Given the description of an element on the screen output the (x, y) to click on. 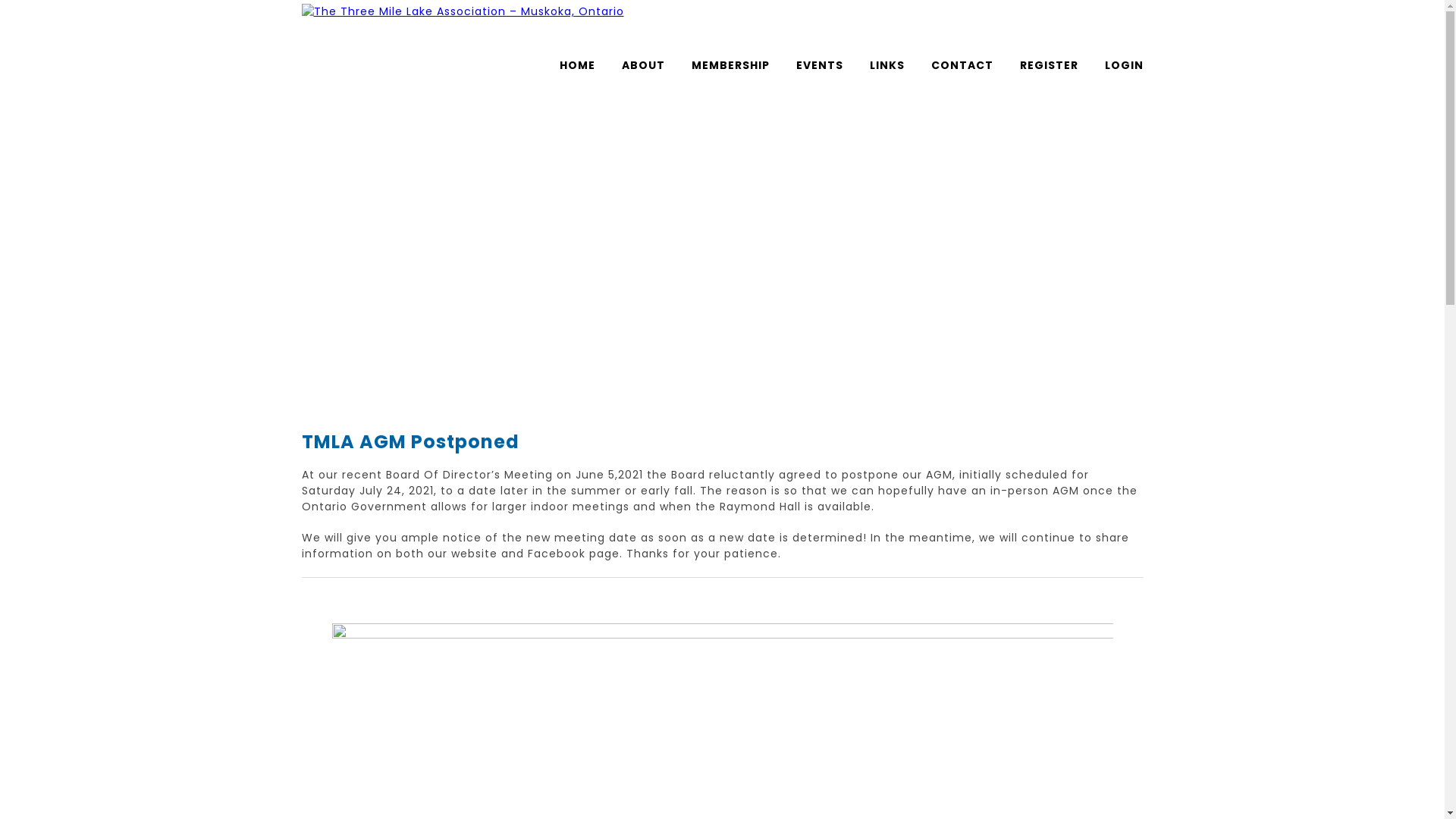
REGISTER Element type: text (1048, 64)
EVENTS Element type: text (819, 64)
LOGIN Element type: text (1123, 64)
MEMBERSHIP Element type: text (730, 64)
ABOUT Element type: text (643, 64)
CONTACT Element type: text (962, 64)
LINKS Element type: text (886, 64)
HOME Element type: text (577, 64)
